Given the description of an element on the screen output the (x, y) to click on. 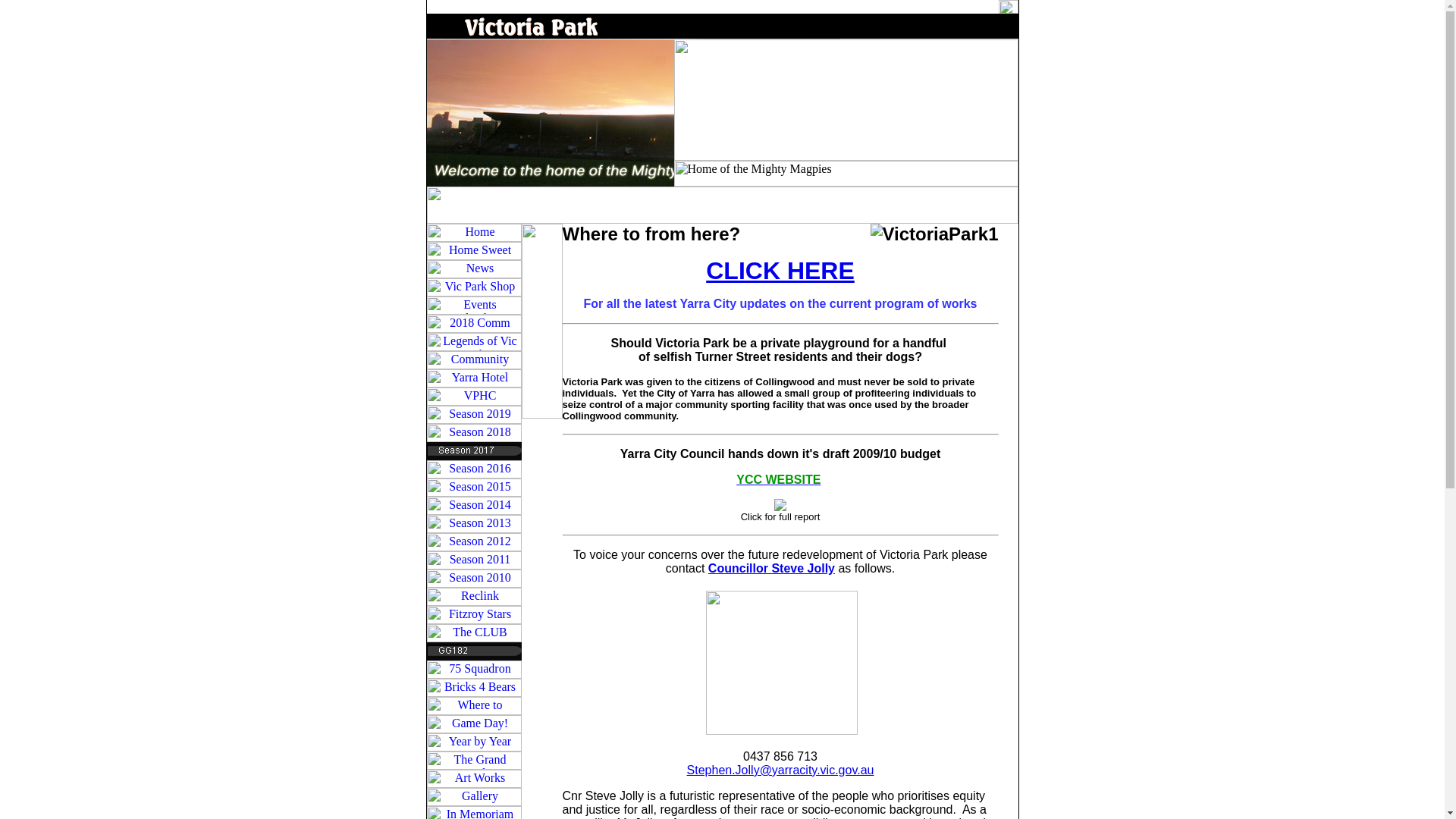
Events Calendar Element type: hover (473, 305)
Home Sweet Home Element type: hover (473, 250)
Season 2017 Element type: hover (473, 451)
Legends of Vic Park Element type: hover (473, 341)
Season 2010 Element type: hover (473, 578)
Game Day! Element type: hover (473, 724)
Season 2016 Element type: hover (473, 469)
Where to Element type: hover (473, 705)
Yarra Hotel Element type: hover (473, 378)
VPHC Element type: hover (473, 396)
YCC WEBSITE Element type: text (778, 479)
Season 2019 Element type: hover (473, 414)
Season 2018 Element type: hover (473, 432)
GG182 Element type: hover (473, 651)
Stephen.Jolly@yarracity.vic.gov.au Element type: text (780, 769)
Bricks 4 Bears Element type: hover (473, 687)
Vic Park Shop Element type: hover (473, 287)
Gallery Element type: hover (473, 796)
Victoria Park Element type: hover (721, 26)
The CLUB Element type: hover (473, 633)
Fitzroy Stars Element type: hover (473, 614)
Year by Year Element type: hover (473, 742)
Season 2012 Element type: hover (473, 542)
Councillor Steve Jolly Element type: text (771, 567)
CLICK HERE Element type: text (780, 270)
Home of the Mighty Magpies Element type: hover (845, 173)
Season 2011 Element type: hover (473, 560)
Season 2015 Element type: hover (473, 487)
Season 2014 Element type: hover (473, 505)
The Grand Stands Element type: hover (473, 760)
Art Works Element type: hover (473, 778)
2018 Comm Cup Element type: hover (473, 323)
75 Squadron Element type: hover (473, 669)
Community Centre Element type: hover (473, 360)
Reclink Element type: hover (473, 596)
Season 2013 Element type: hover (473, 523)
info@victoriapark.net.au Element type: text (944, 5)
News Element type: hover (473, 269)
Home Element type: hover (473, 232)
